Given the description of an element on the screen output the (x, y) to click on. 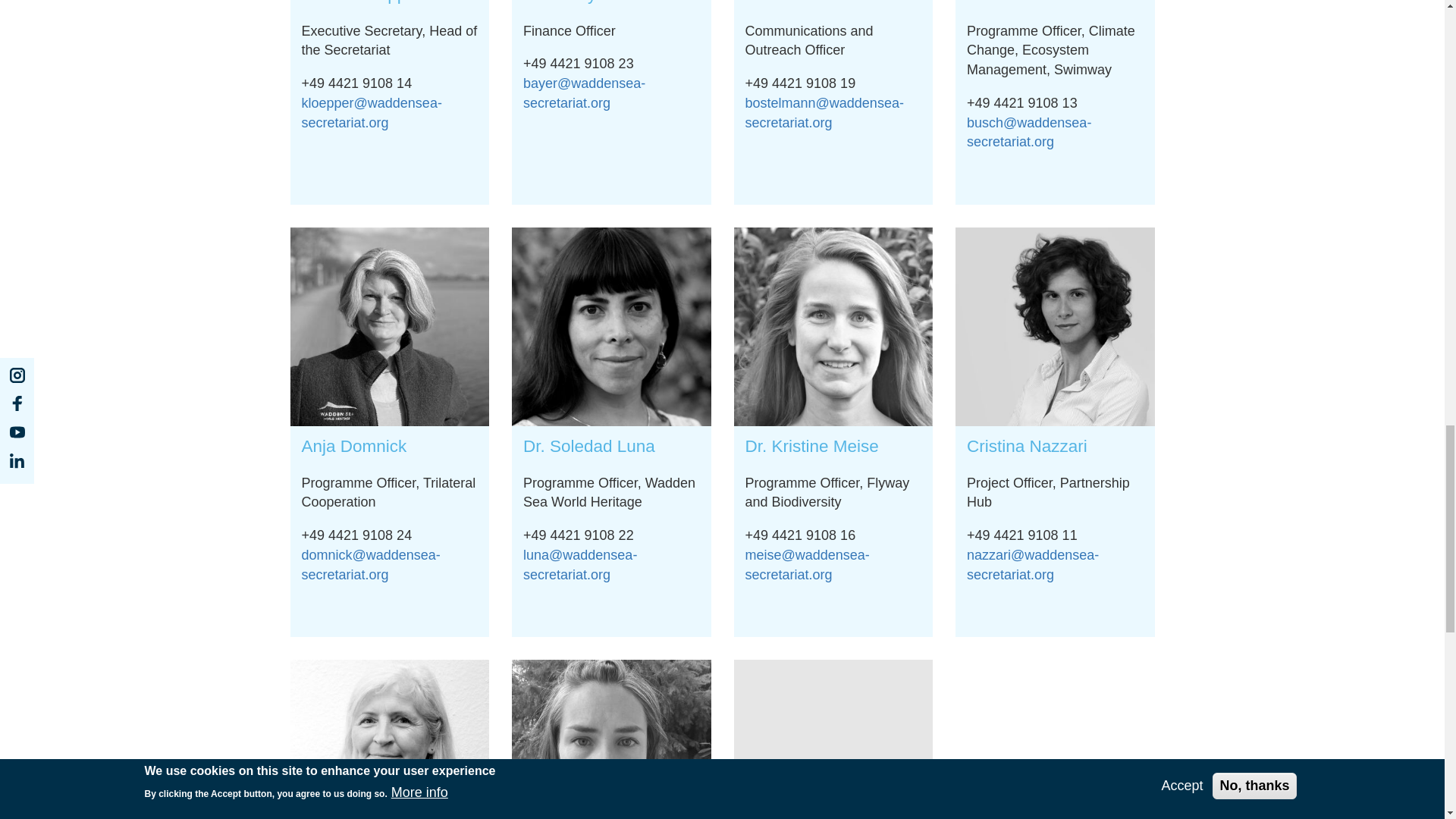
Kristine Meise. Private. (833, 326)
Rebecca Stewart. Private. (611, 739)
Anja Domnick. CWSS. (389, 326)
